Given the description of an element on the screen output the (x, y) to click on. 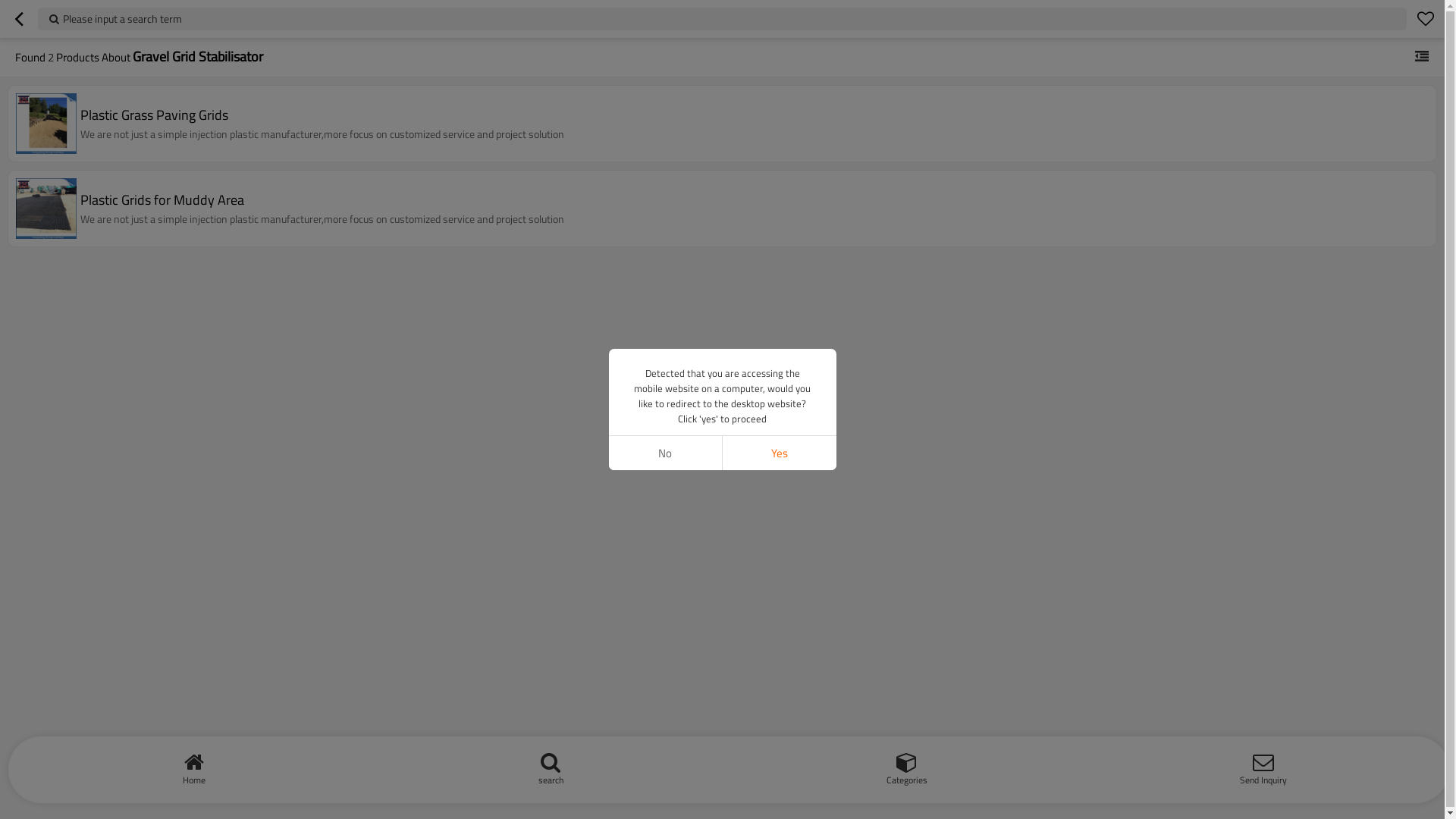
search Element type: text (550, 765)
No Element type: text (664, 453)
Wish list Element type: hover (1425, 18)
Home Element type: text (193, 765)
Categories Element type: text (906, 765)
Yes Element type: text (778, 453)
Send Inquiry Element type: text (1263, 765)
Category Element type: hover (1421, 56)
Please input a search term Element type: text (721, 18)
Return Element type: hover (18, 18)
